Given the description of an element on the screen output the (x, y) to click on. 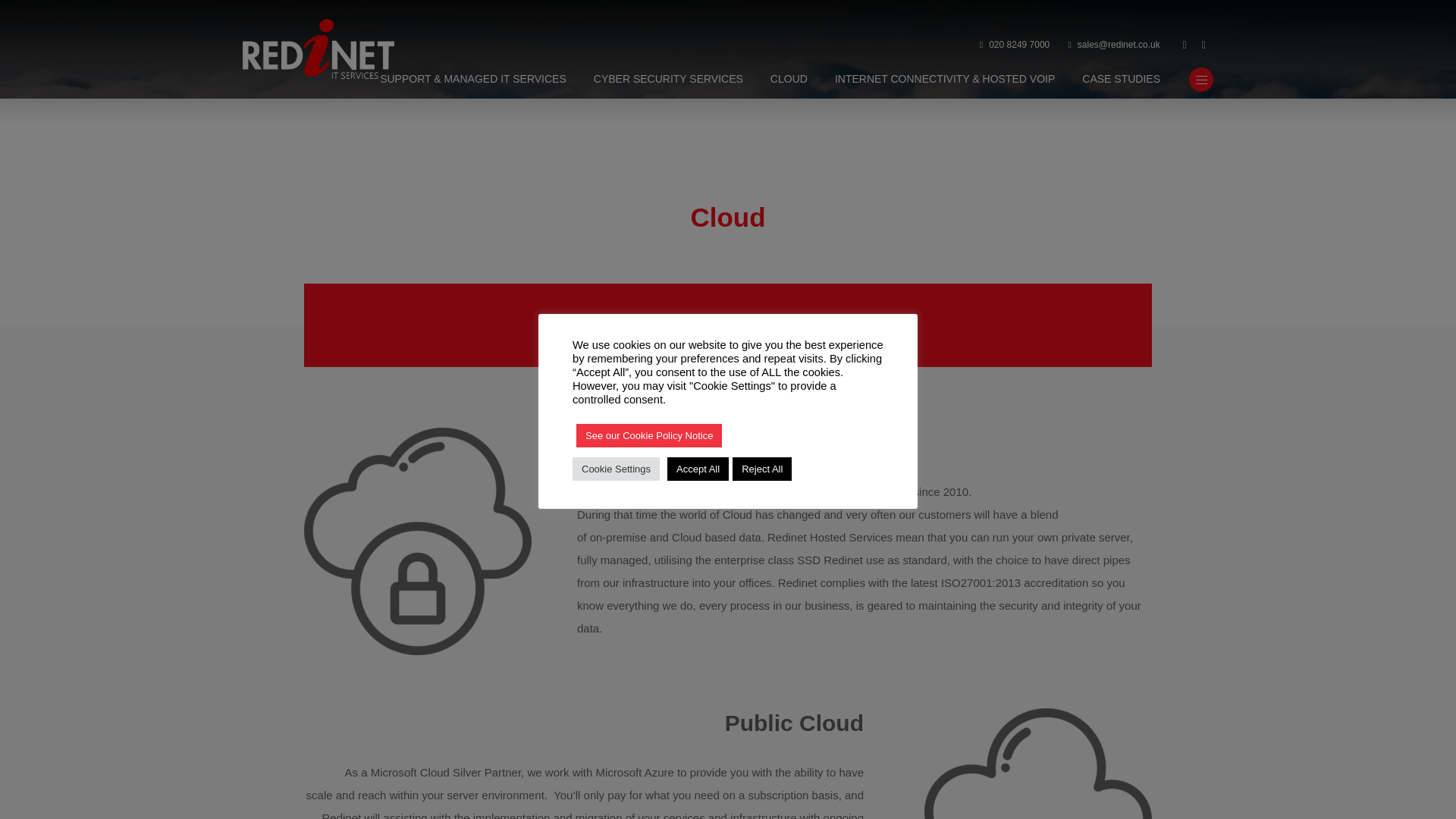
CYBER SECURITY SERVICES (668, 79)
See our Cookie Policy Notice (649, 434)
020 8249 7000 (1014, 45)
Accept All (697, 467)
CLOUD (789, 79)
CLOUD (789, 79)
Reject All (762, 467)
CASE STUDIES (1120, 79)
Cookie Settings (615, 467)
CYBER SECURITY SERVICES (668, 79)
